Given the description of an element on the screen output the (x, y) to click on. 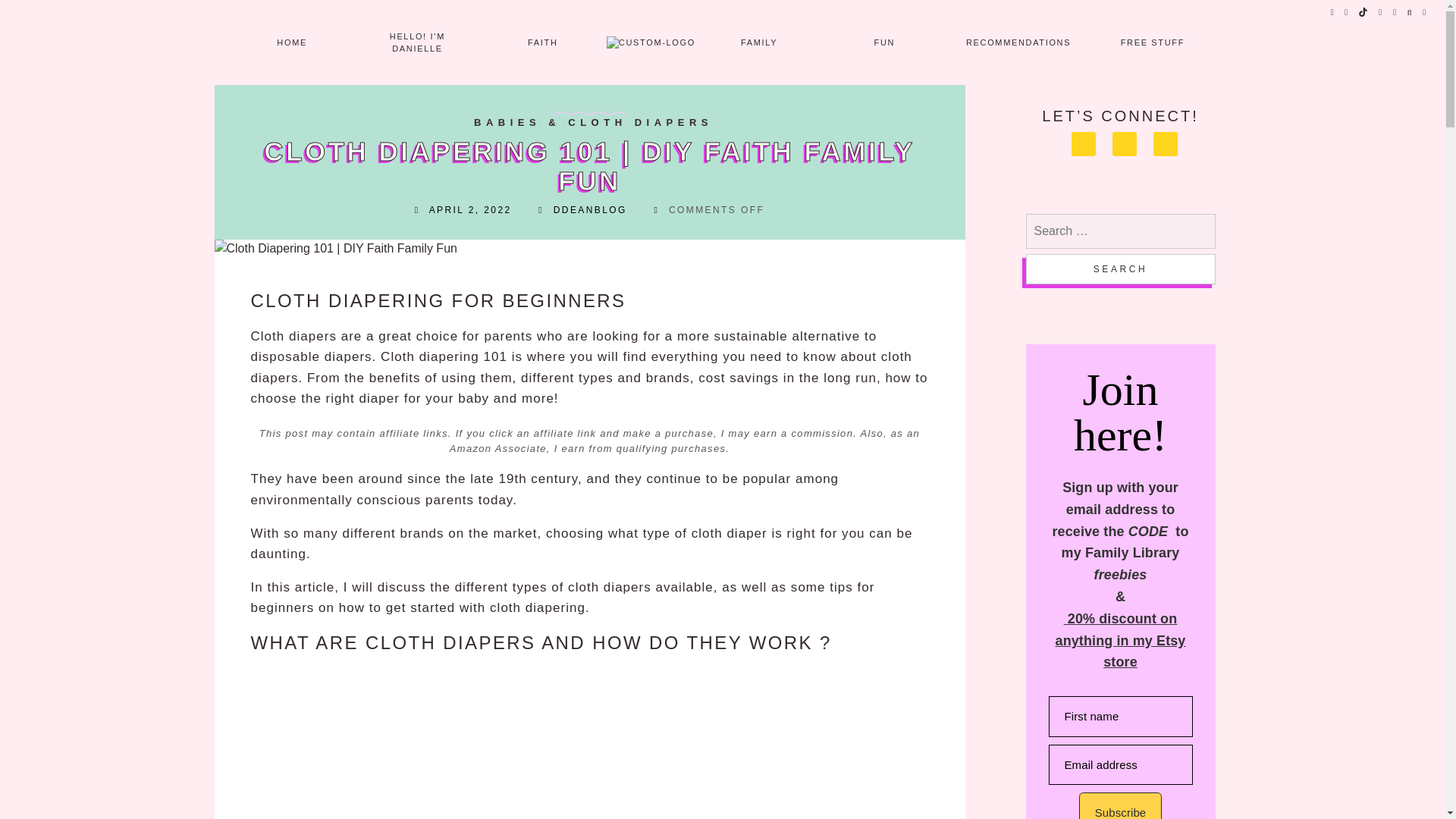
Search (1119, 268)
HOME (291, 41)
Search (1119, 268)
tiktok icon (1363, 12)
